Given the description of an element on the screen output the (x, y) to click on. 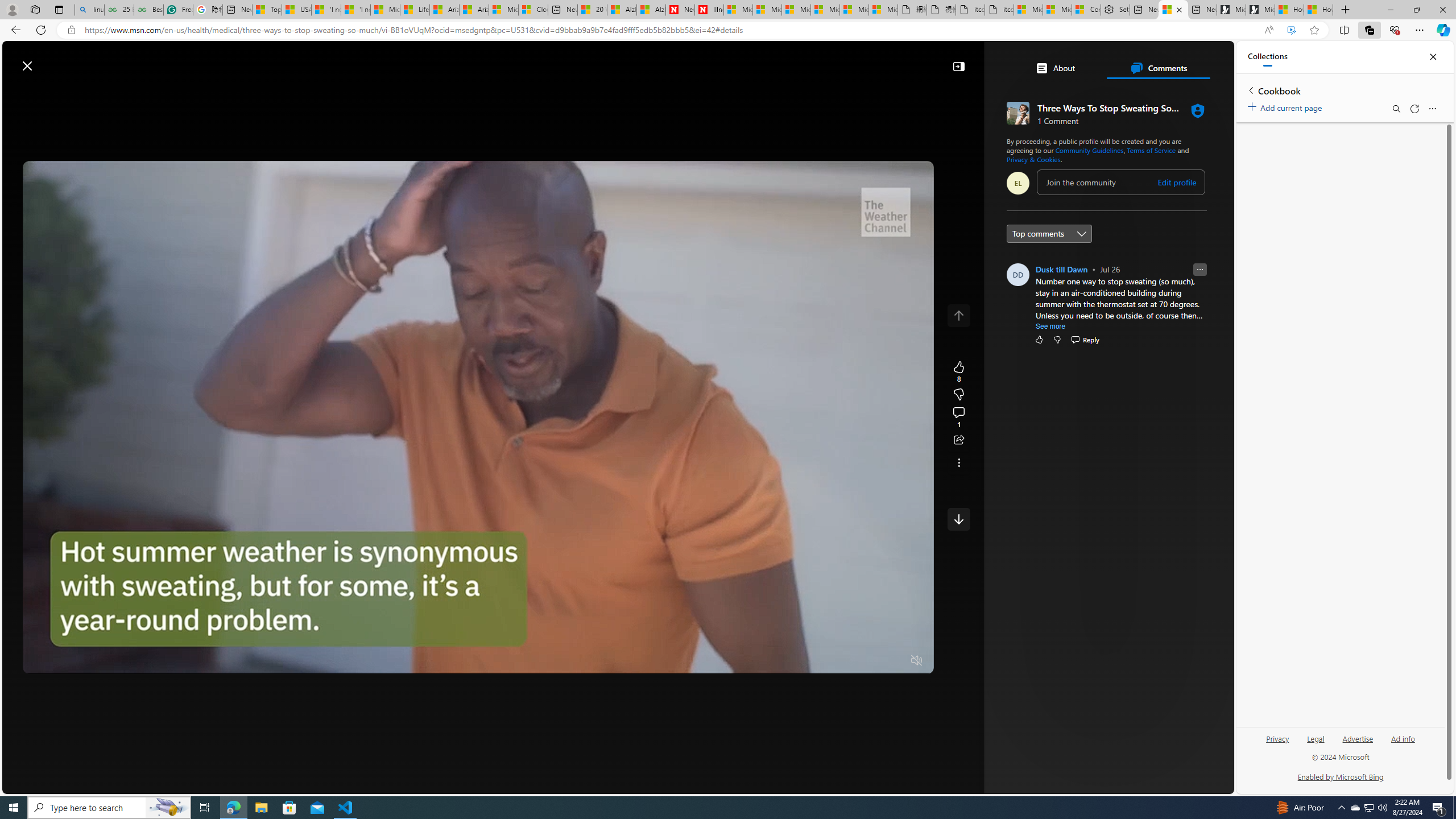
Three Ways To Stop Sweating So Much (1173, 9)
Unmute (916, 660)
Top Stories - MSN (266, 9)
Personalize (1023, 92)
Open Copilot (819, 59)
Sort comments by (1049, 233)
Skip to footer (46, 59)
Class: control (958, 518)
Nordace (1075, 601)
USA TODAY - MSN (295, 9)
How to Use a TV as a Computer Monitor (1318, 9)
Newsweek - News, Analysis, Politics, Business, Technology (679, 9)
